Given the description of an element on the screen output the (x, y) to click on. 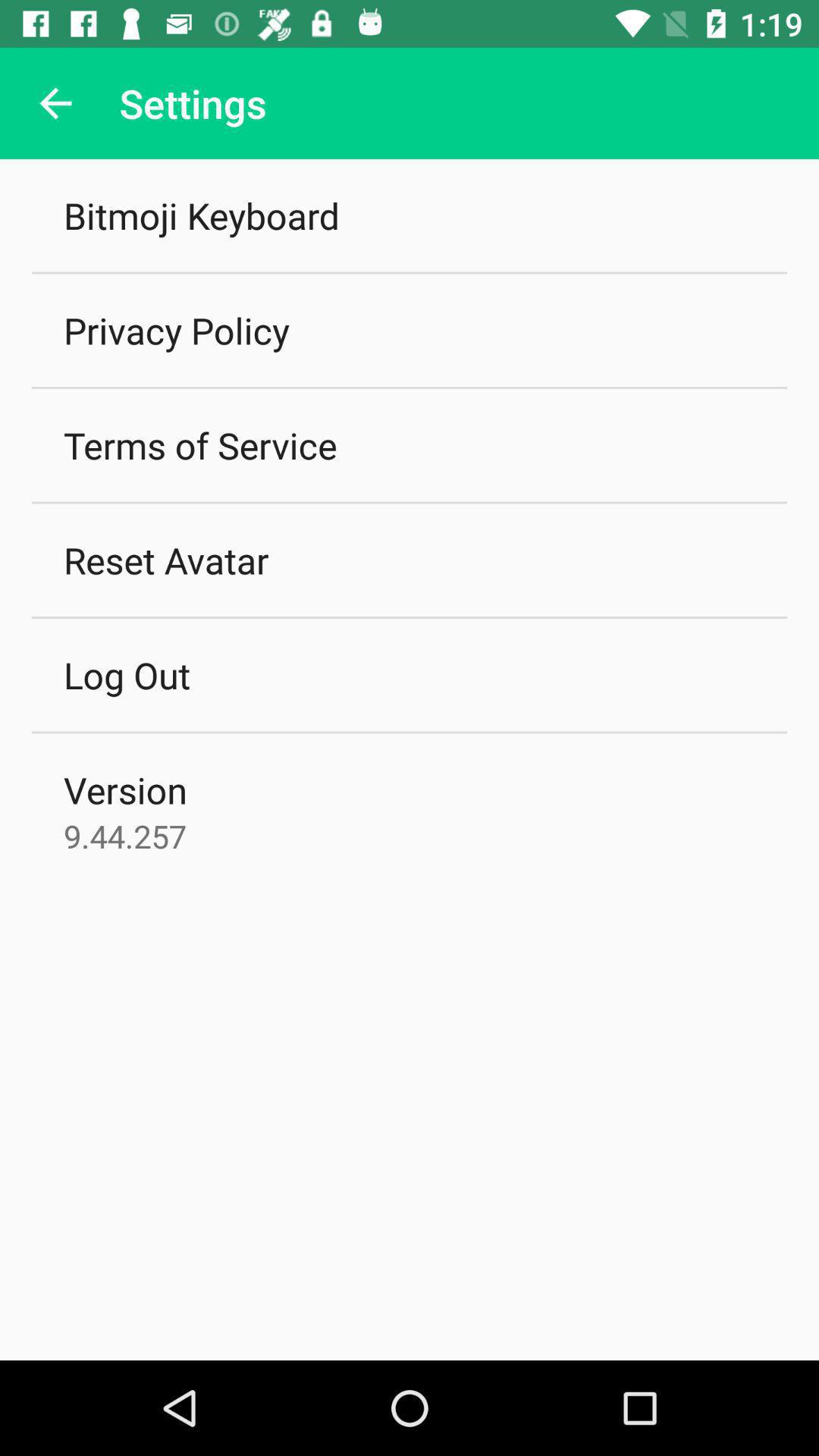
turn off 9.44.257 icon (124, 835)
